Given the description of an element on the screen output the (x, y) to click on. 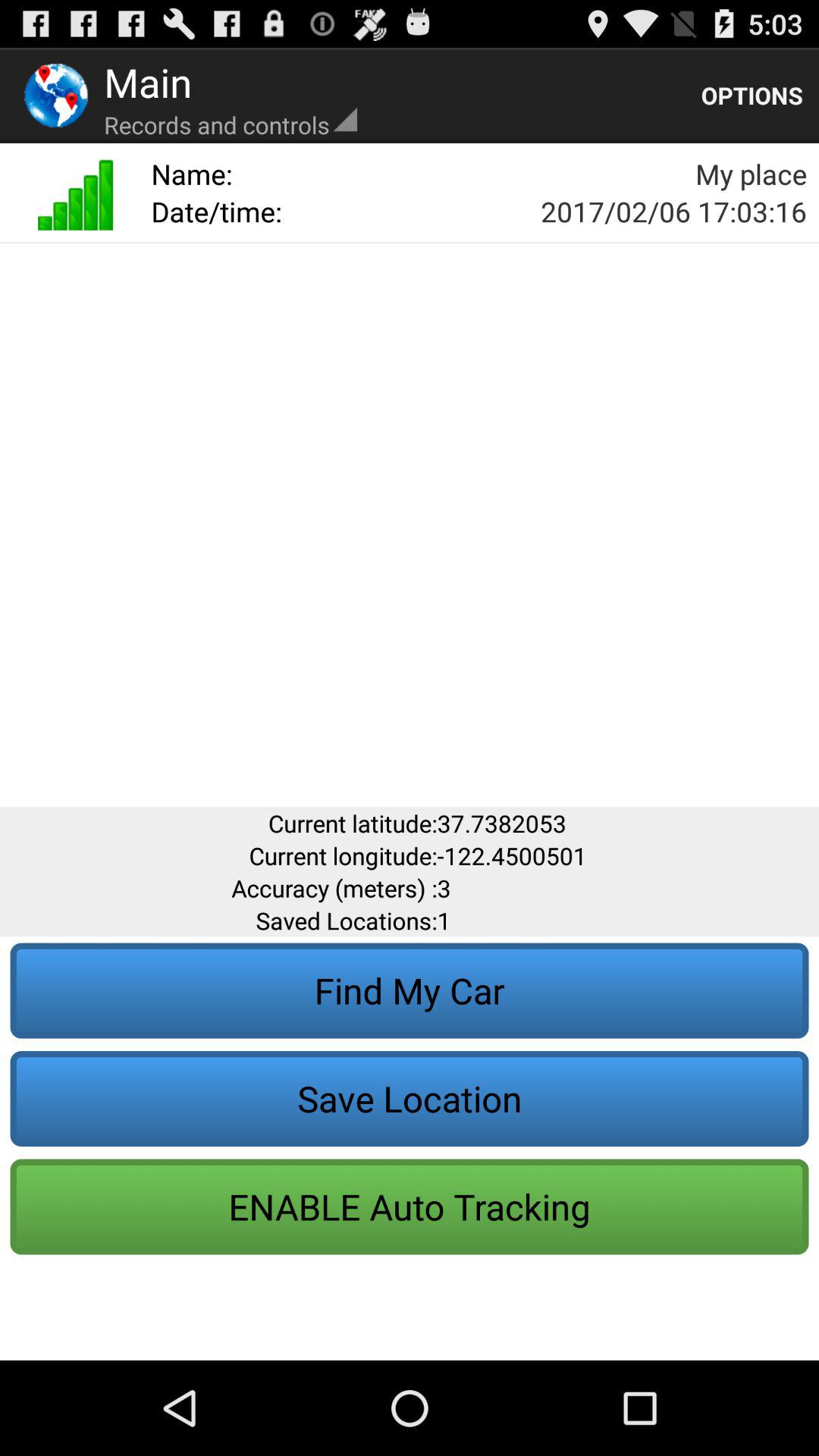
tap on the text options at the top right corner (752, 95)
click on main along with the text below it shown at the top left corner (230, 95)
click on the button below save location (409, 1206)
click on the button below find my car (409, 1099)
